Given the description of an element on the screen output the (x, y) to click on. 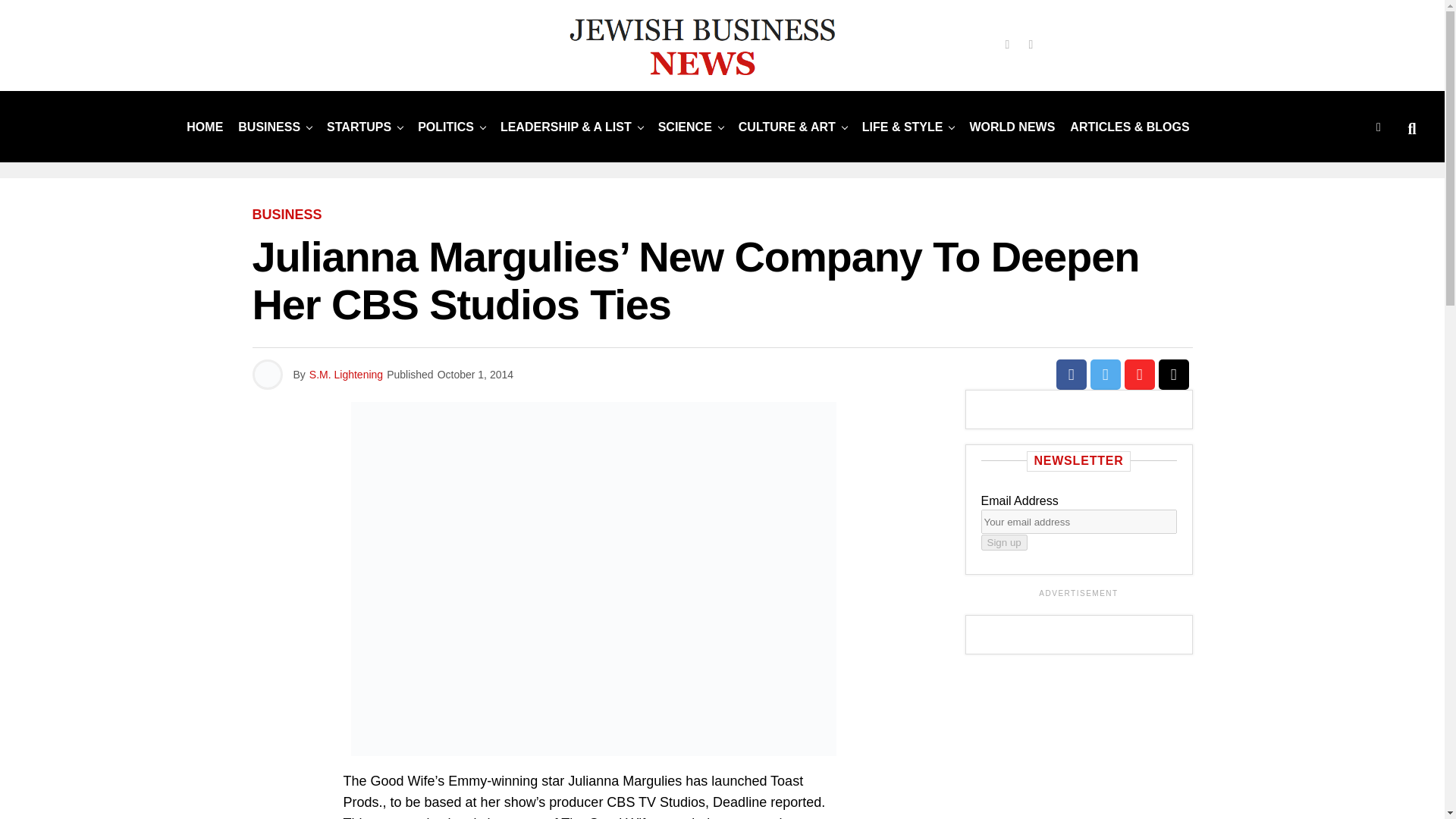
Tweet This Post (1105, 374)
New Research (684, 126)
Posts by S.M. Lightening (345, 374)
Share on Flipboard (1139, 374)
Sign up (1004, 542)
Share on Facebook (1070, 374)
